Given the description of an element on the screen output the (x, y) to click on. 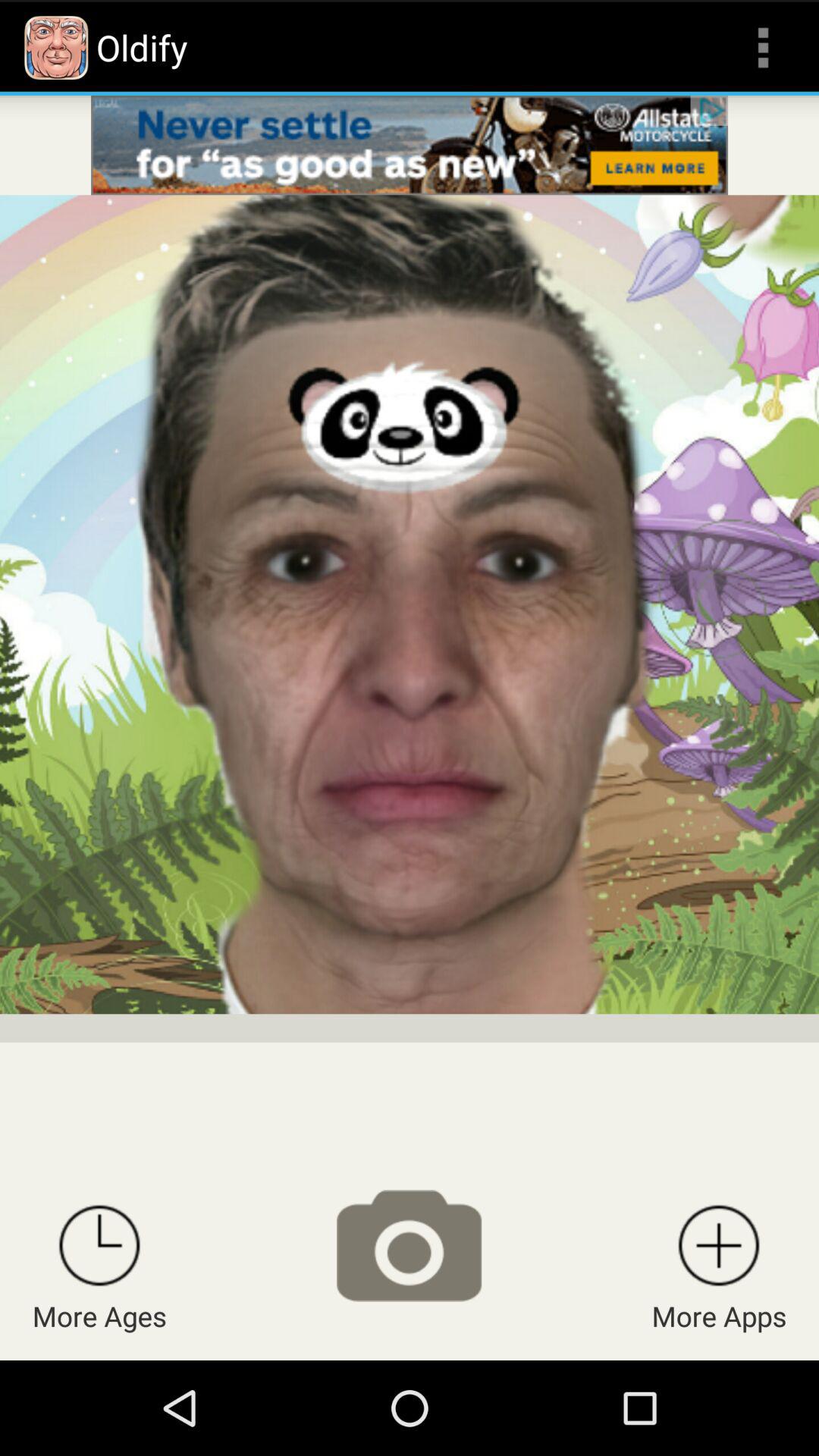
more apps (718, 1245)
